Given the description of an element on the screen output the (x, y) to click on. 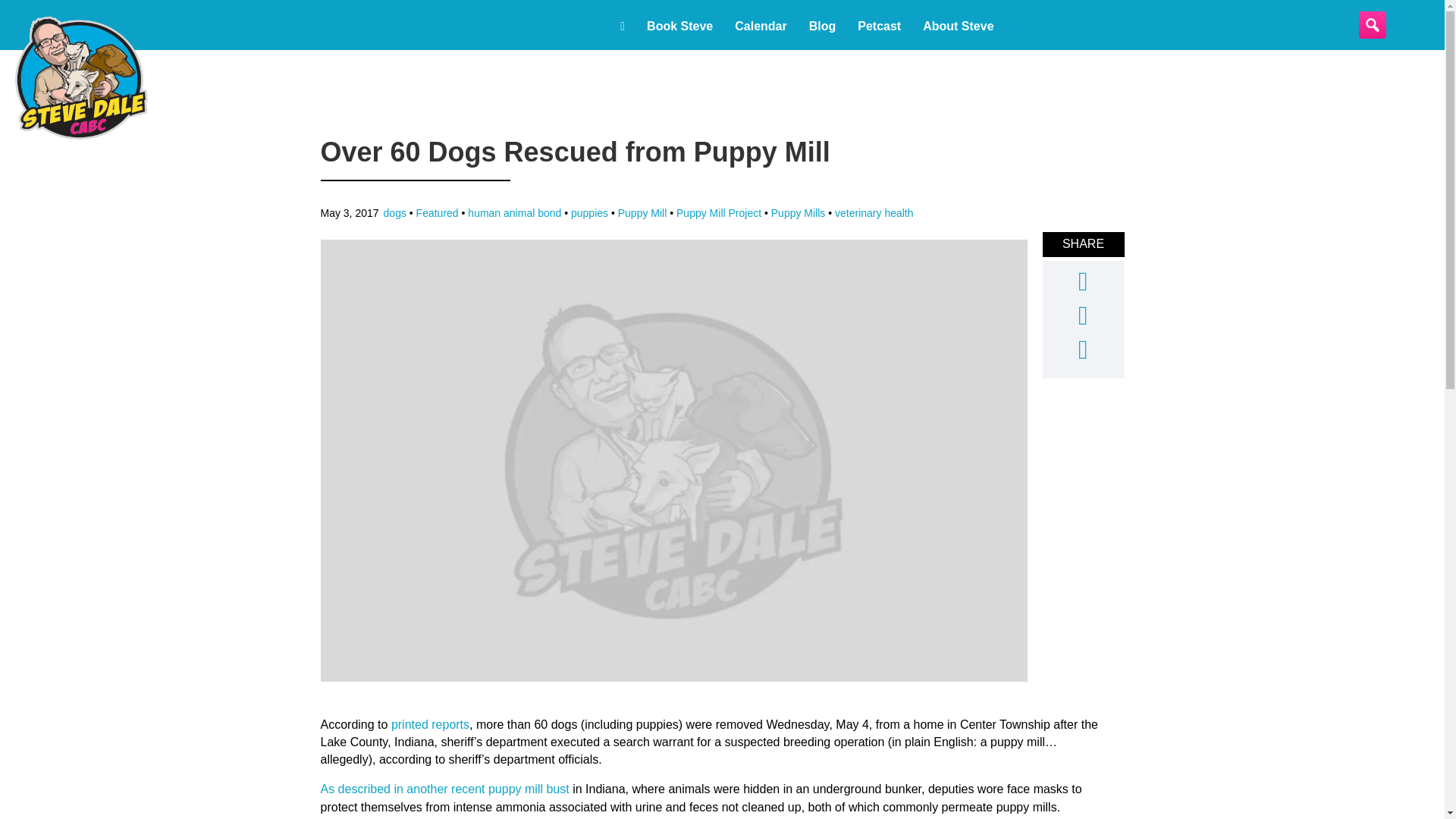
Puppy Mill Project (719, 213)
Puppy Mills (798, 213)
veterinary health (874, 213)
Blog (822, 25)
Featured (437, 213)
Book Steve (679, 25)
dogs (395, 213)
Calendar (759, 25)
human animal bond (513, 213)
Puppy Mill (641, 213)
Petcast (879, 25)
printed reports (429, 724)
As described in another recent puppy mill bust (444, 788)
puppies (589, 213)
About Steve (958, 25)
